Given the description of an element on the screen output the (x, y) to click on. 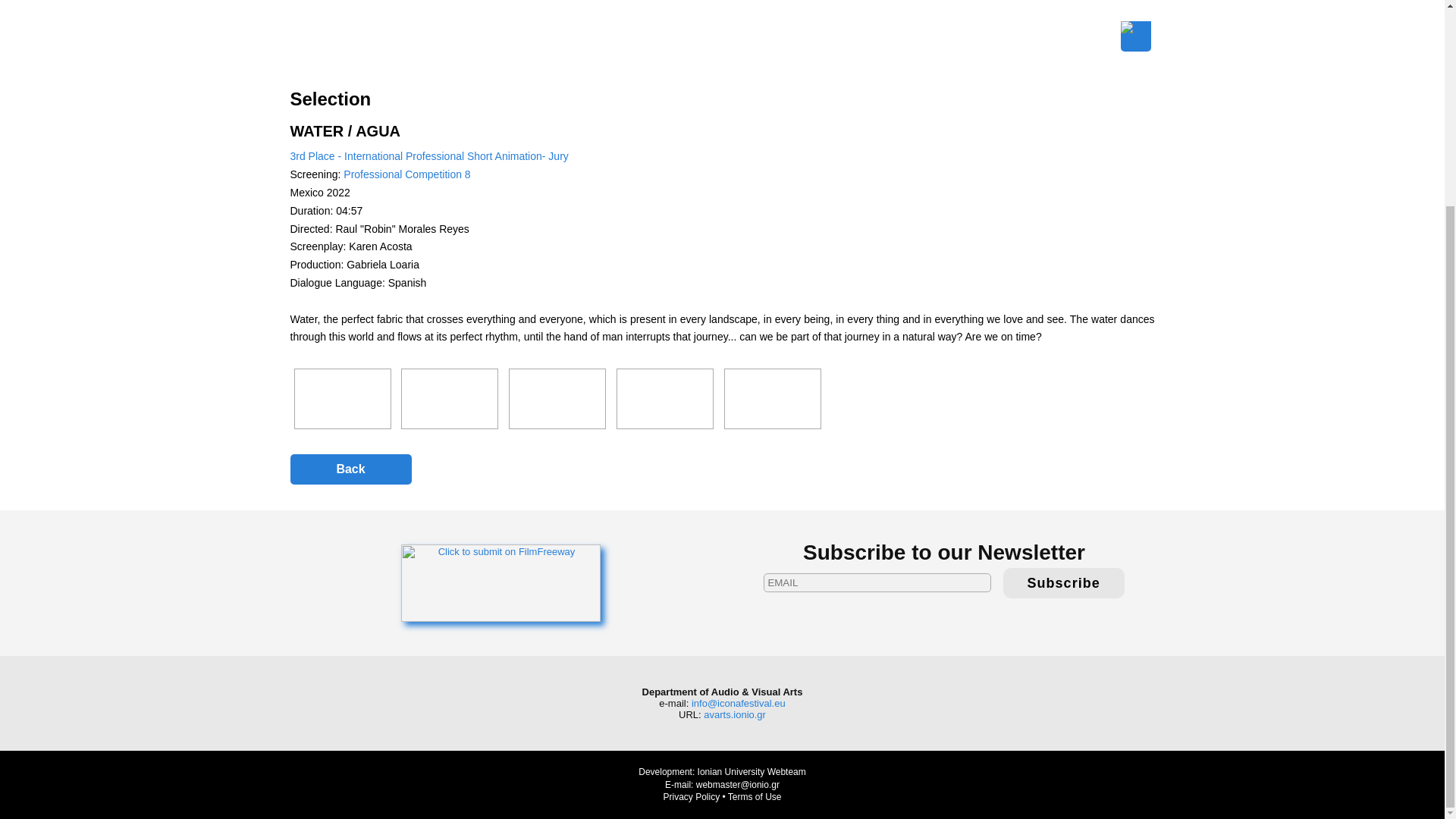
Click to submit on FilmFreeway (499, 582)
Click to submit on FilmFreeway (499, 582)
Subscribe (1063, 583)
ShareOnSocialMedia (1137, 36)
